Given the description of an element on the screen output the (x, y) to click on. 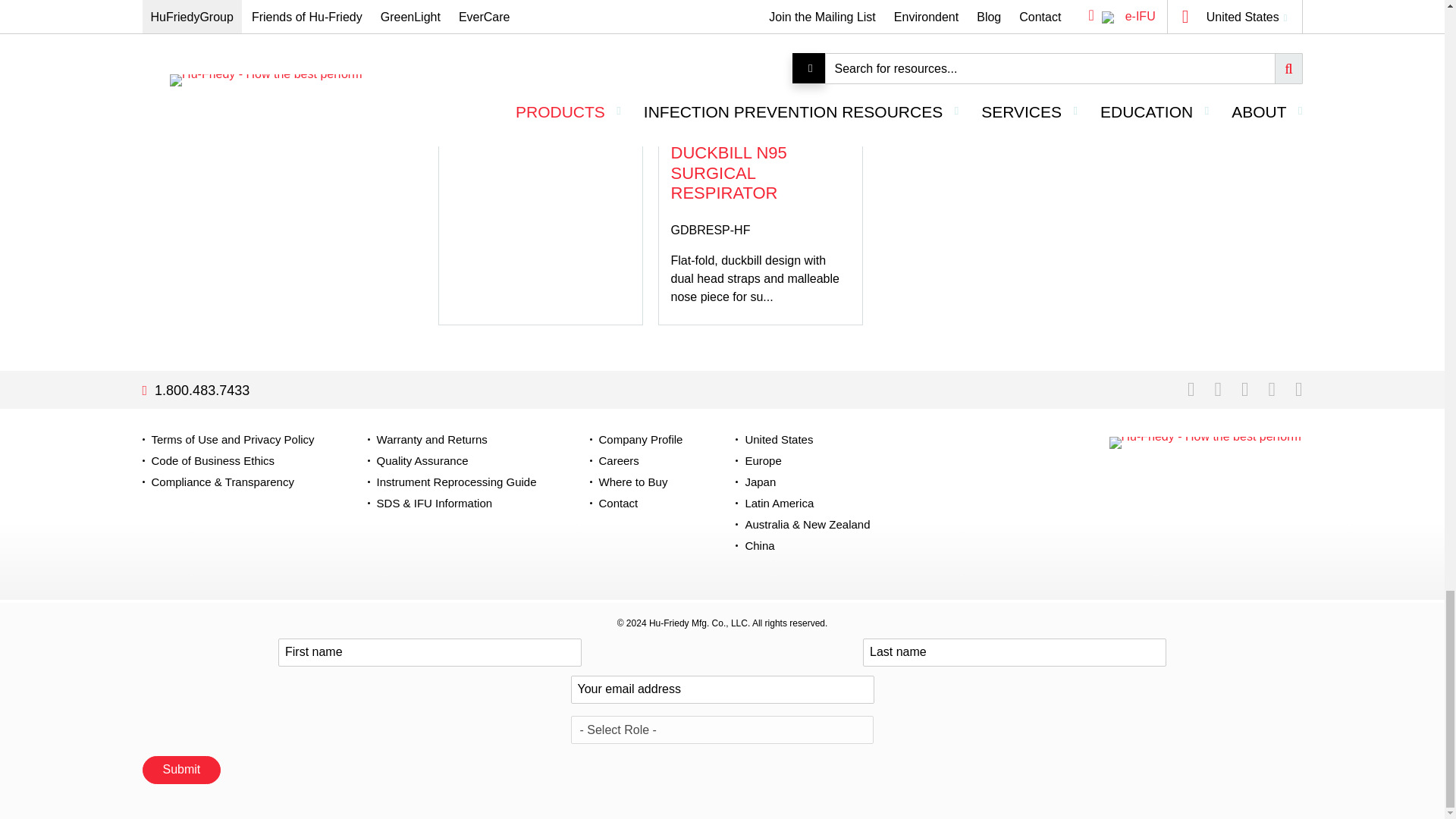
Submit (181, 769)
